Given the description of an element on the screen output the (x, y) to click on. 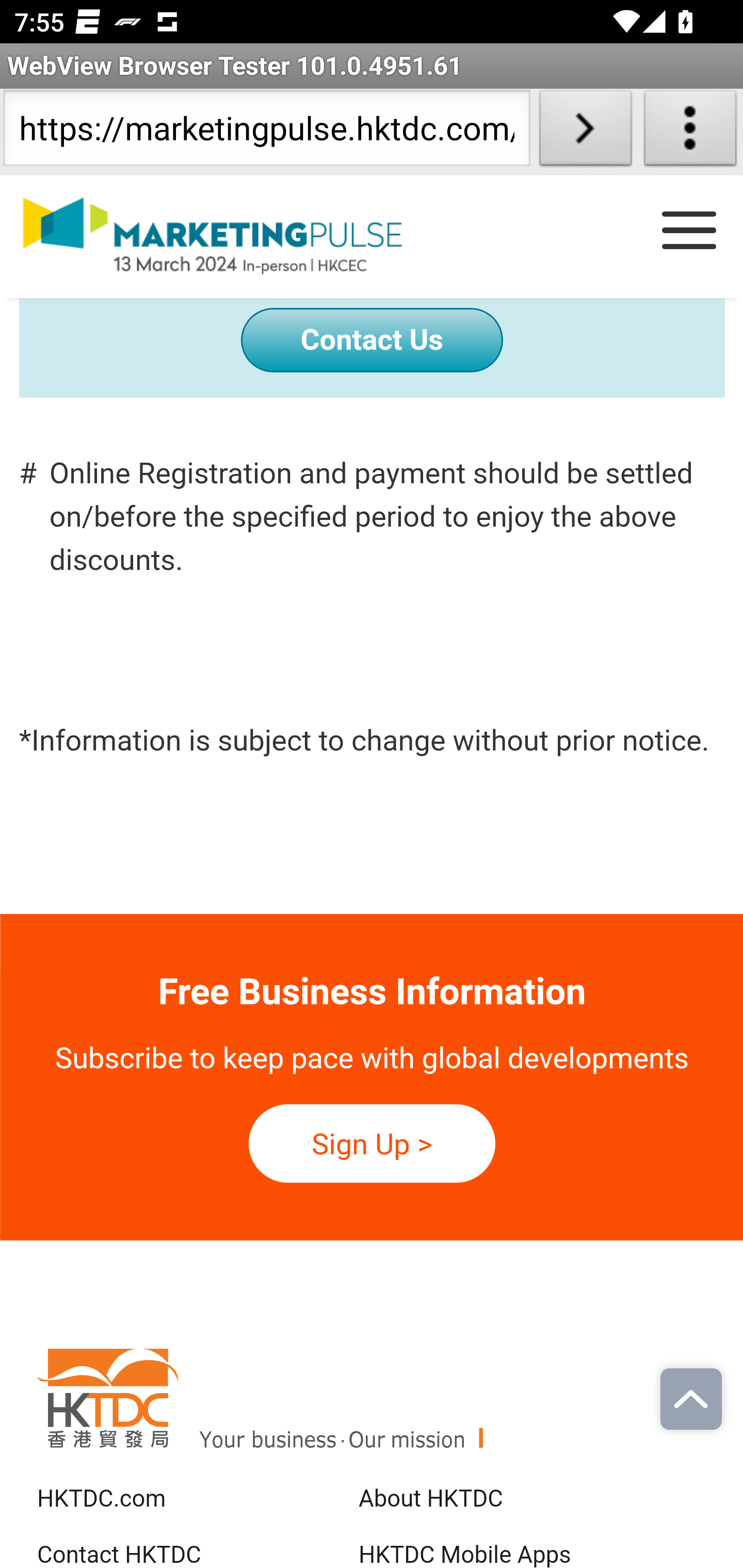
Load URL (585, 132)
About WebView (690, 132)
HKTDC Event (230, 237)
Contact Us (371, 340)
Sign Up > Sign Up  > (371, 1144)
HKTDC.com (372, 1417)
HKTDC.com (110, 1500)
About HKTDC (430, 1500)
Contact HKTDC (128, 1554)
HKTDC Mobile Apps (464, 1554)
